Given the description of an element on the screen output the (x, y) to click on. 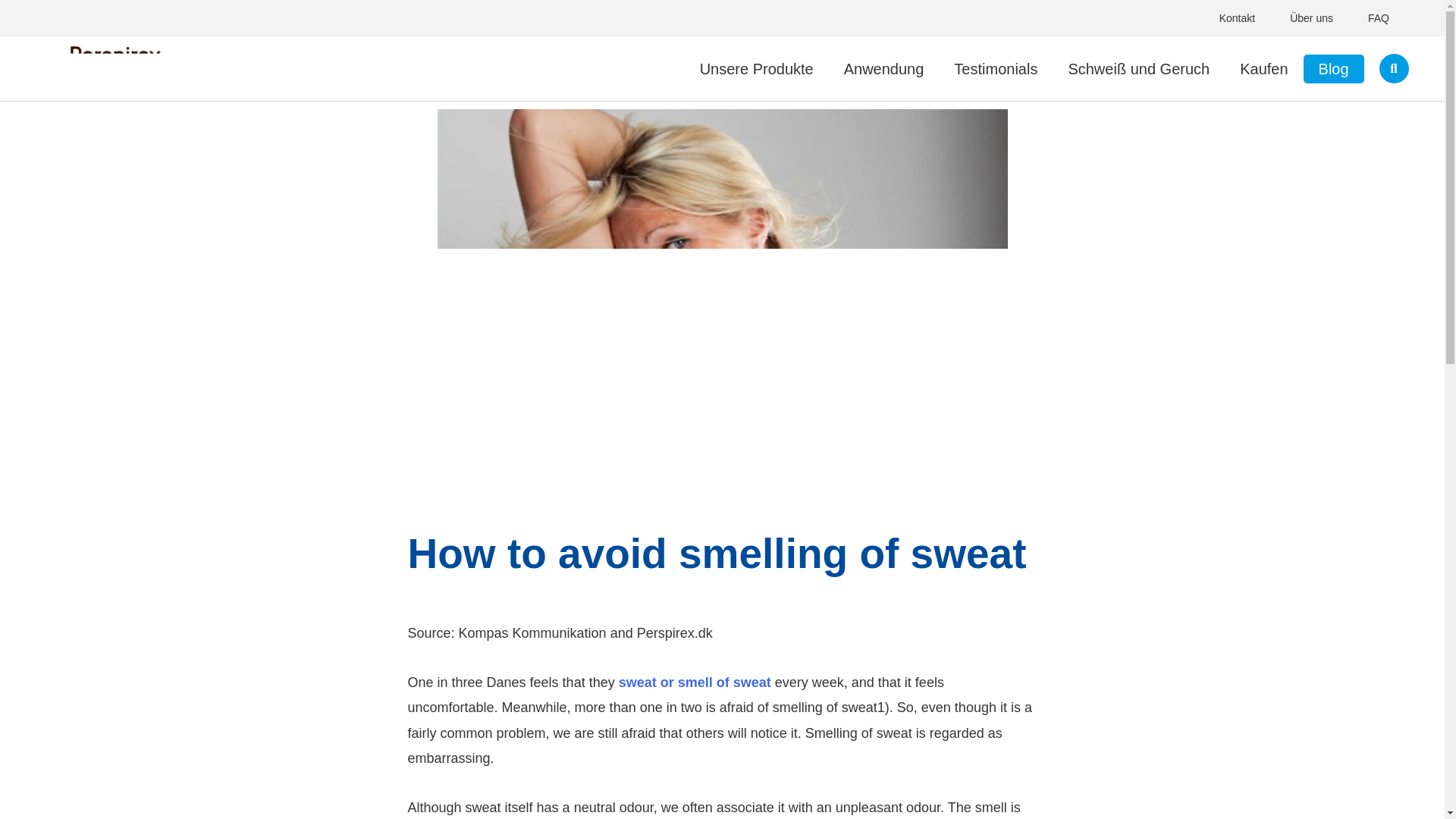
Kontakt (1237, 17)
Testimonials (995, 68)
sweat or smell of sweat (692, 682)
Blog (1333, 68)
Anwendung (883, 68)
Unsere Produkte (756, 68)
Kaufen (1263, 68)
FAQ (1378, 17)
